Given the description of an element on the screen output the (x, y) to click on. 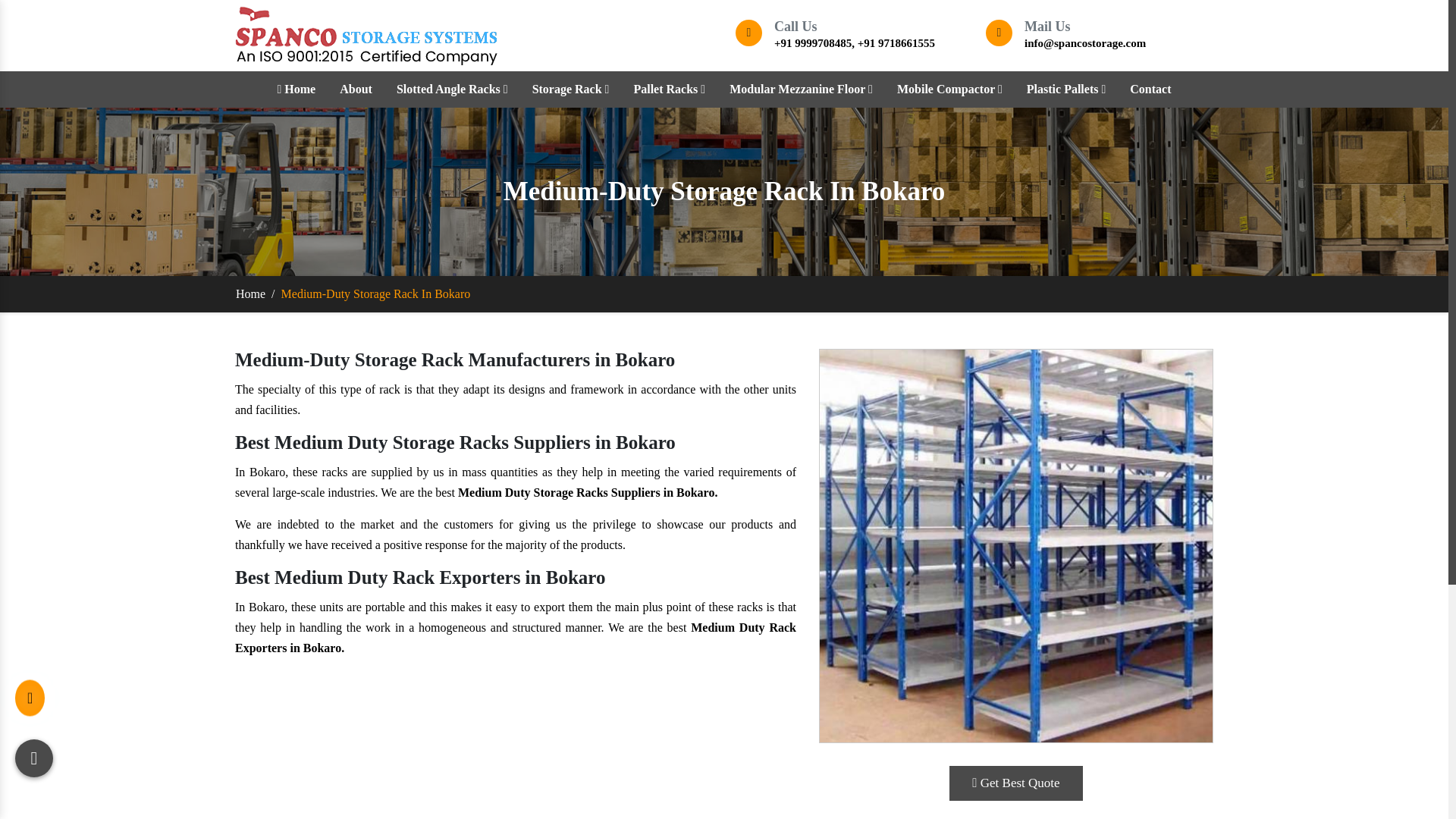
Spanco Storage Systems (365, 35)
Storage Rack (571, 89)
Slotted Angle Racks (452, 89)
About (355, 89)
Home (295, 89)
Slotted Angle Racks (452, 89)
